Given the description of an element on the screen output the (x, y) to click on. 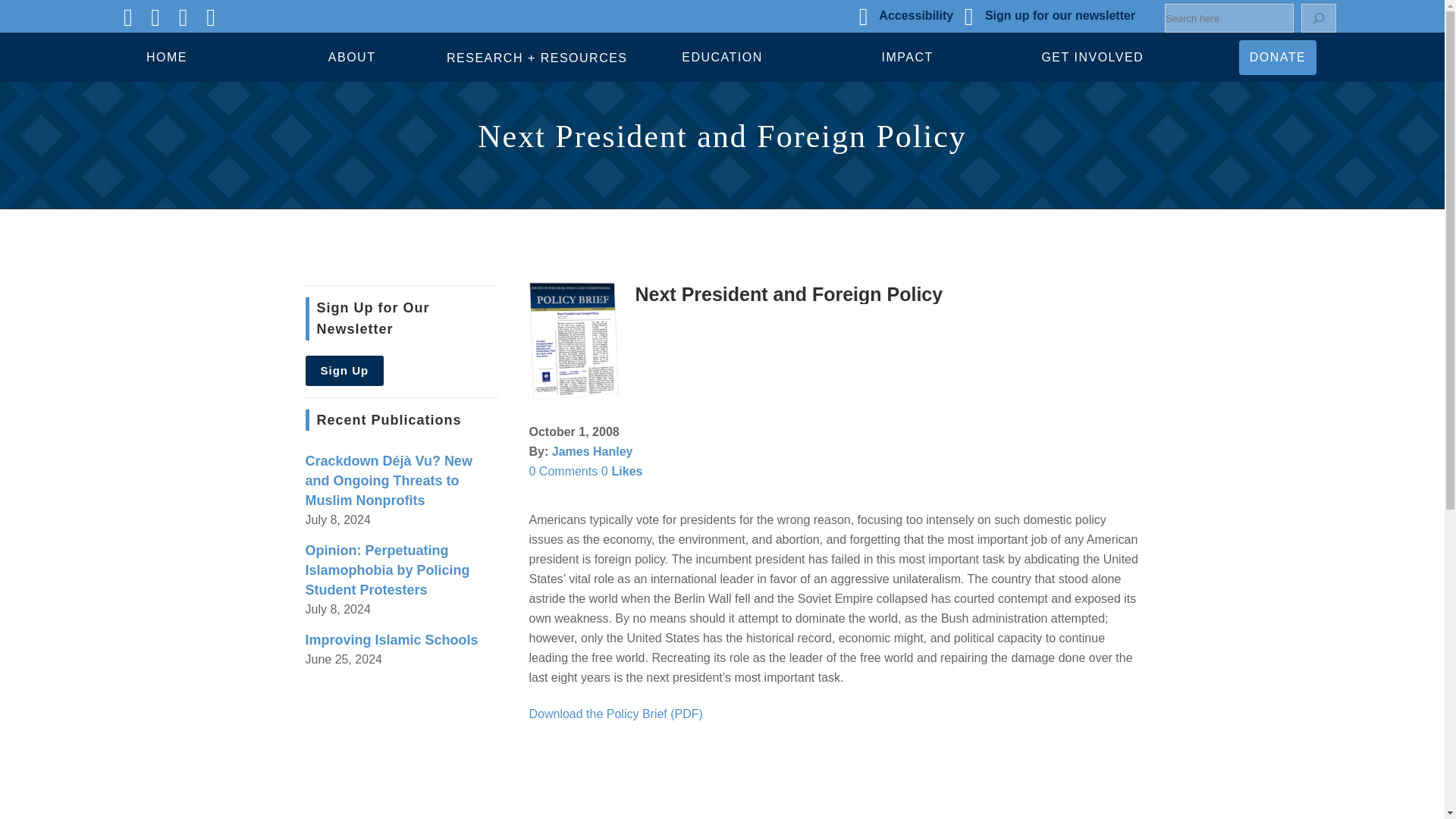
Posts by James Hanley (592, 451)
ABOUT (352, 56)
Accessibility (916, 15)
Like this (622, 471)
